Given the description of an element on the screen output the (x, y) to click on. 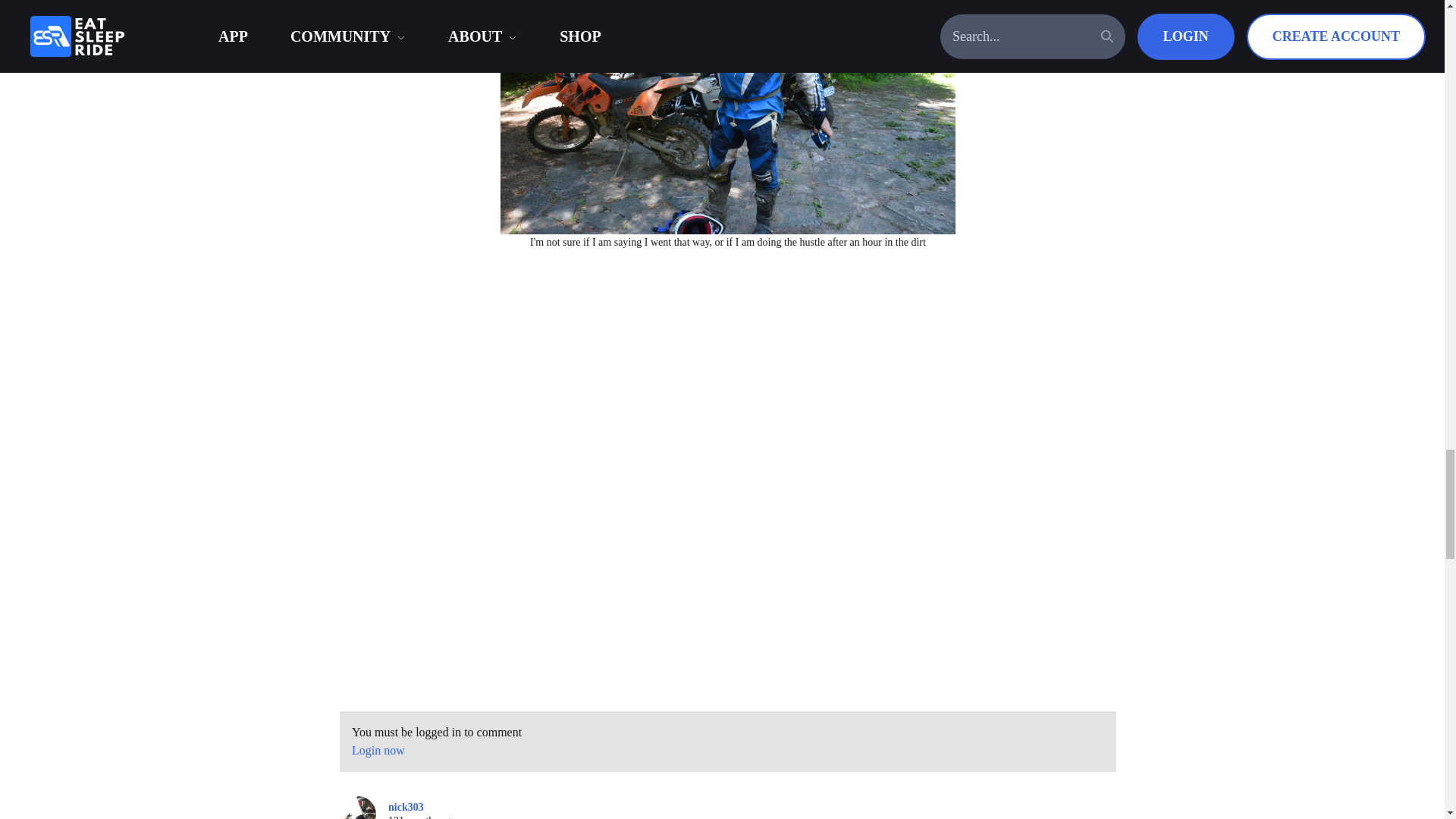
nick303 (405, 807)
Login now (378, 749)
nick303 (363, 807)
